Given the description of an element on the screen output the (x, y) to click on. 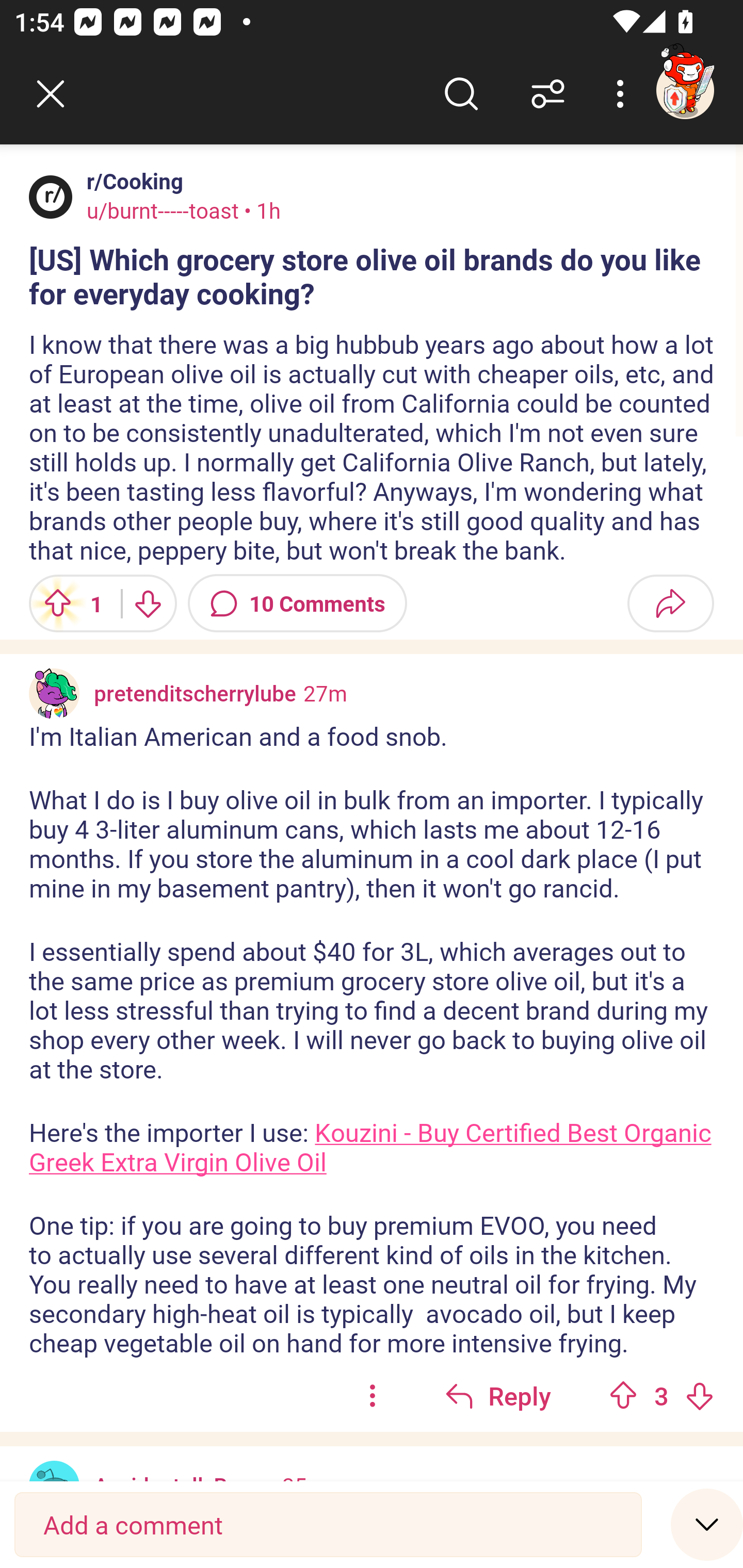
Back (50, 93)
TestAppium002 account (685, 90)
Search comments (460, 93)
Sort comments (547, 93)
More options (623, 93)
r/Cooking (131, 181)
Avatar (50, 196)
u/burnt-----toast (162, 210)
Upvote 1 (67, 603)
Downvote (146, 603)
10 Comments (297, 603)
Share (670, 603)
Custom avatar (53, 693)
27m (324, 692)
options (372, 1395)
Reply (498, 1395)
Upvote 3 3 votes Downvote (661, 1395)
Upvote (622, 1395)
Downvote (699, 1395)
Speed read (706, 1524)
Add a comment (327, 1524)
